Given the description of an element on the screen output the (x, y) to click on. 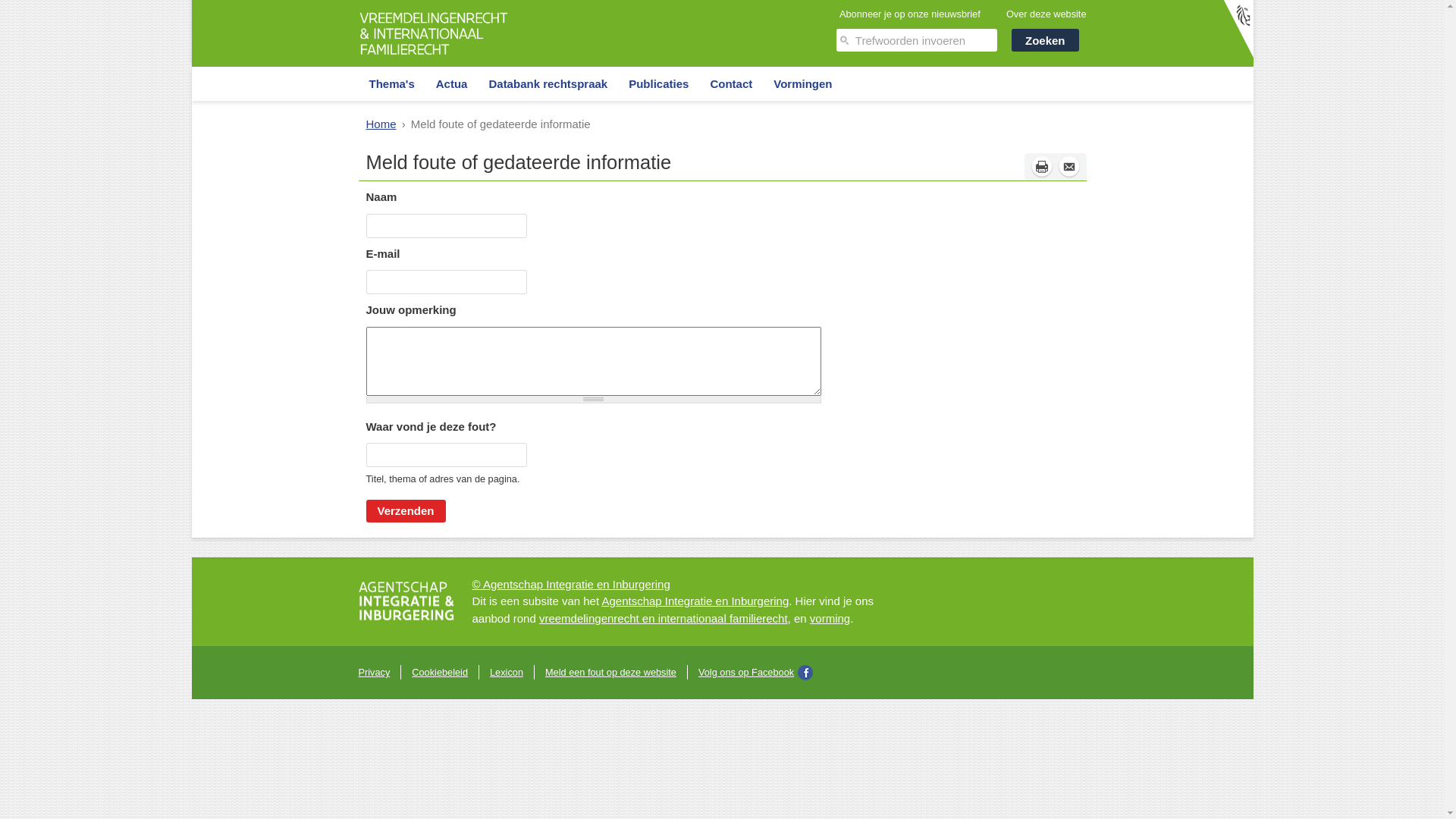
Thema's Element type: text (390, 83)
Volg ons op Facebook Element type: text (755, 672)
Meld een fout op deze website Element type: text (610, 671)
Overslaan en naar de algemene inhoud gaan Element type: text (114, 0)
Privacy Element type: text (373, 671)
Databank rechtspraak Element type: text (547, 83)
Home Element type: text (380, 123)
Over deze website Element type: text (1046, 13)
Lexicon Element type: text (506, 671)
Publicaties Element type: text (658, 83)
vorming Element type: text (829, 617)
vreemdelingenrecht en internationaal familierecht Element type: text (663, 617)
Vormingen Element type: text (802, 83)
Contact Element type: text (730, 83)
Home Element type: hover (432, 56)
Forward this page to a friend Element type: hover (1068, 166)
Cookiebeleid Element type: text (439, 671)
Actua Element type: text (451, 83)
Agentschap Integratie en Inburgering Element type: text (694, 600)
Abonneer je op onze nieuwsbrief Element type: text (909, 13)
Verzenden Element type: text (405, 510)
Zoeken Element type: text (1045, 39)
Print this page Element type: hover (1040, 166)
